Given the description of an element on the screen output the (x, y) to click on. 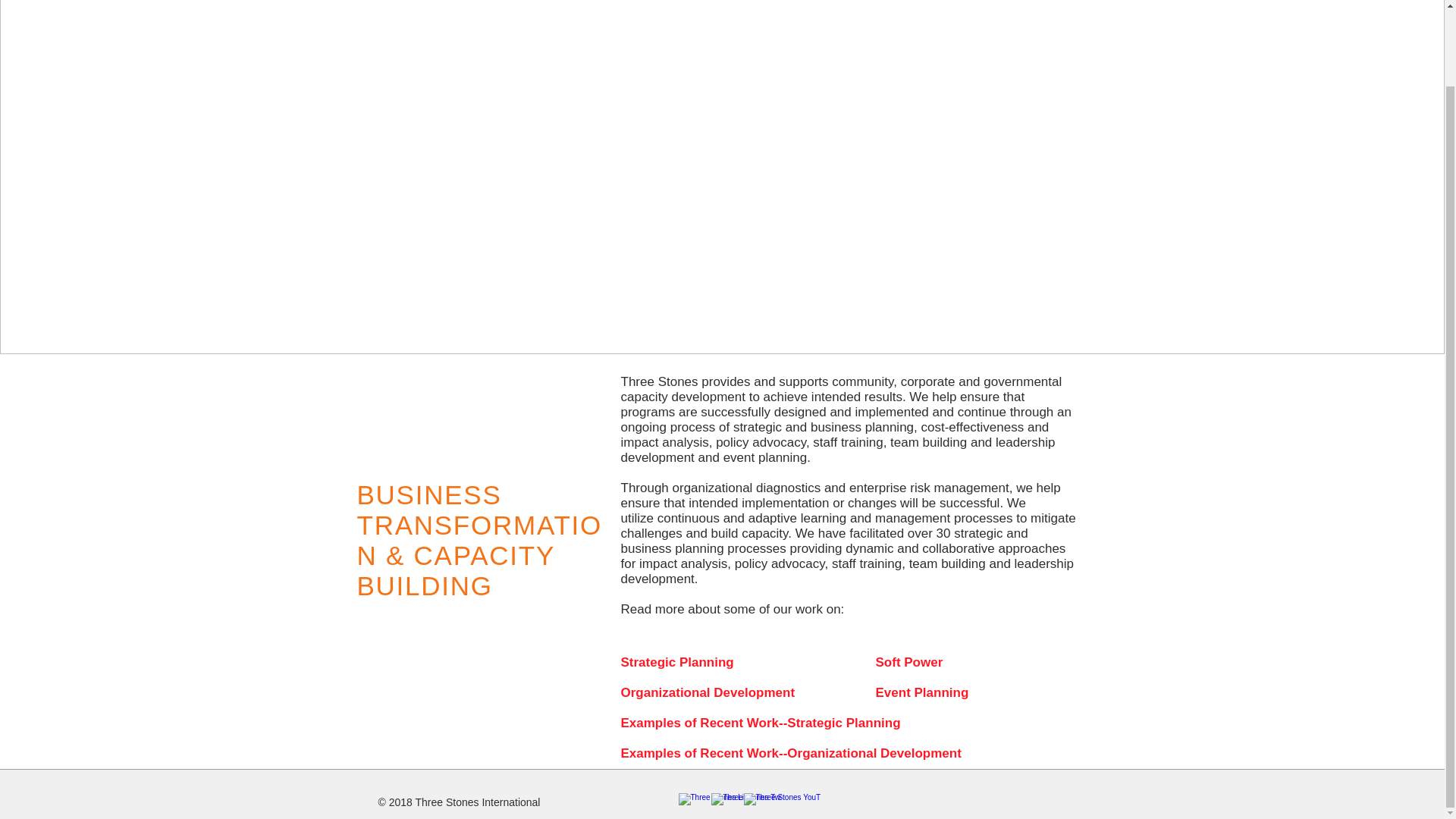
Organizational Development (707, 693)
Event Planning (928, 693)
Soft Power (928, 662)
Strategic Planning (676, 662)
Examples of Recent Work--Organizational Development (790, 753)
Examples of Recent Work--Strategic Planning (759, 723)
